Given the description of an element on the screen output the (x, y) to click on. 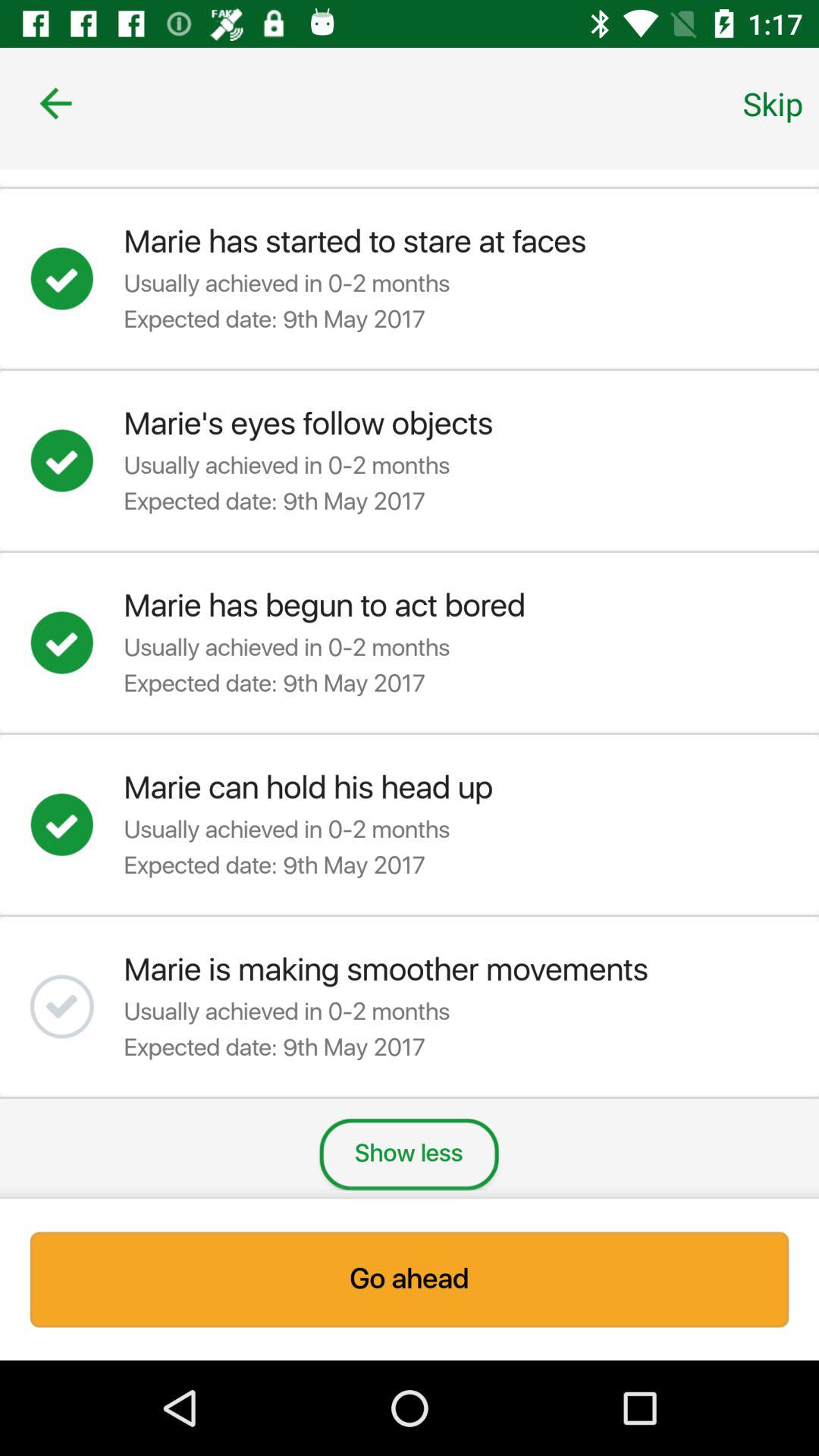
mark step complete (76, 824)
